Given the description of an element on the screen output the (x, y) to click on. 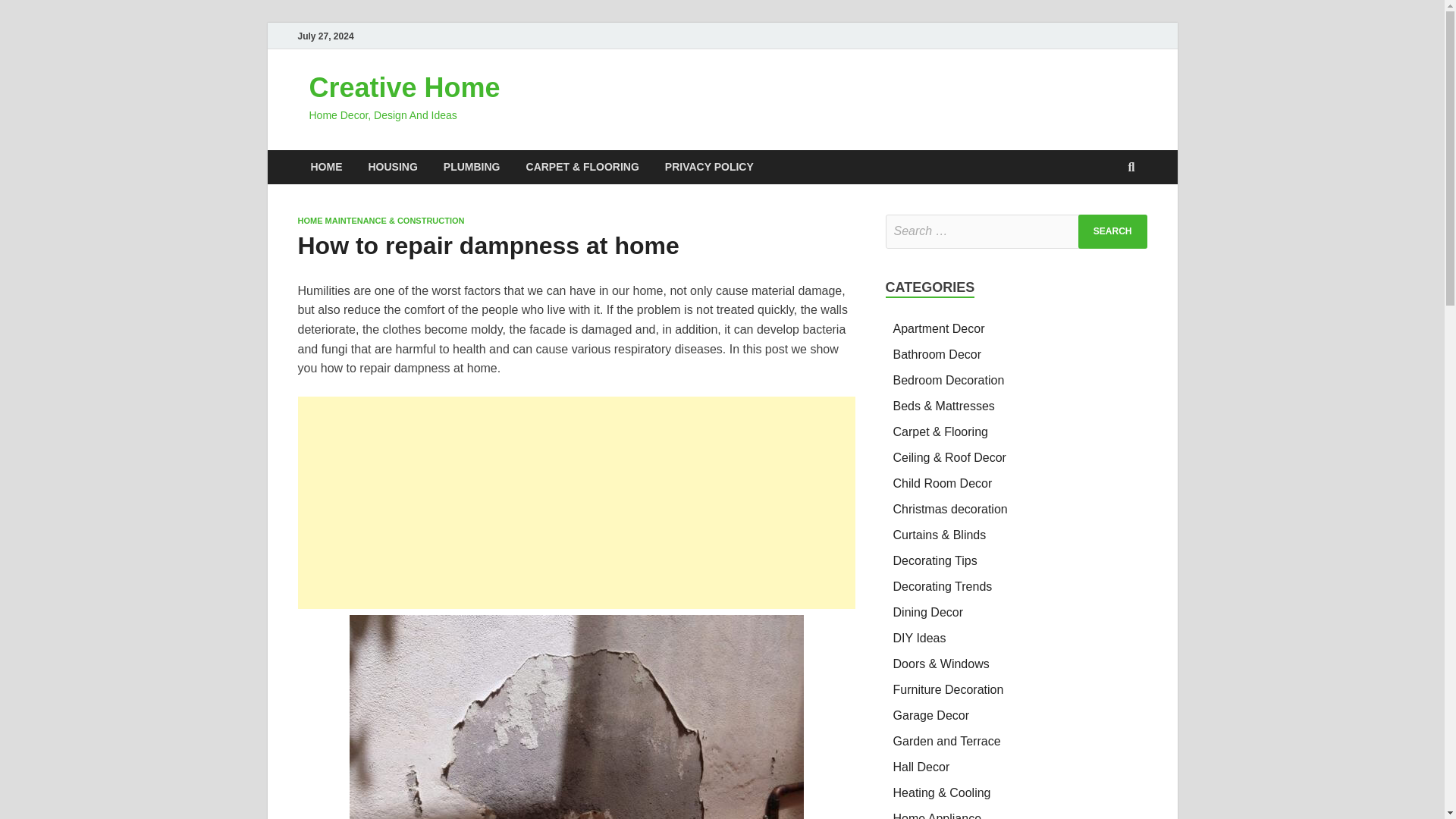
Hall Decor (921, 766)
Child Room Decor (942, 482)
PRIVACY POLICY (709, 166)
Dining Decor (927, 612)
Search (1112, 231)
Decorating Trends (942, 585)
Bedroom Decoration (948, 379)
Creative Home (404, 87)
Christmas decoration (950, 508)
Bathroom Decor (937, 354)
Garage Decor (931, 715)
HOME (326, 166)
PLUMBING (471, 166)
HOUSING (392, 166)
Garden and Terrace (947, 740)
